Given the description of an element on the screen output the (x, y) to click on. 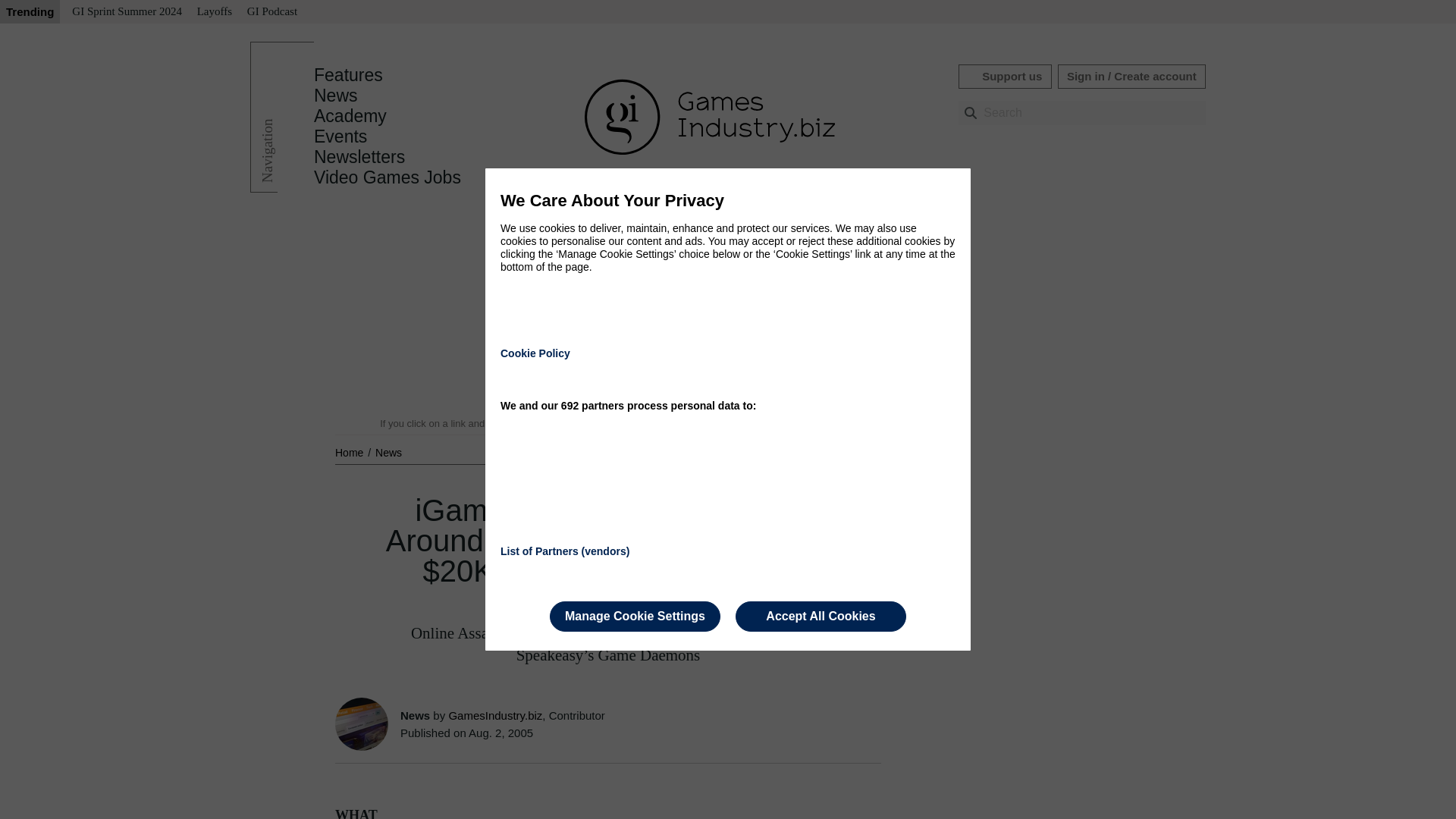
Layoffs (214, 11)
Layoffs (214, 11)
Events (340, 136)
News (388, 452)
GI Sprint Summer 2024 (126, 11)
Academy (350, 116)
Home (350, 452)
Video Games Jobs (387, 177)
Features (348, 75)
Read our editorial policy (781, 423)
Newsletters (359, 157)
Events (340, 136)
GI Podcast (271, 11)
Features (348, 75)
GamesIndustry.biz (494, 715)
